Given the description of an element on the screen output the (x, y) to click on. 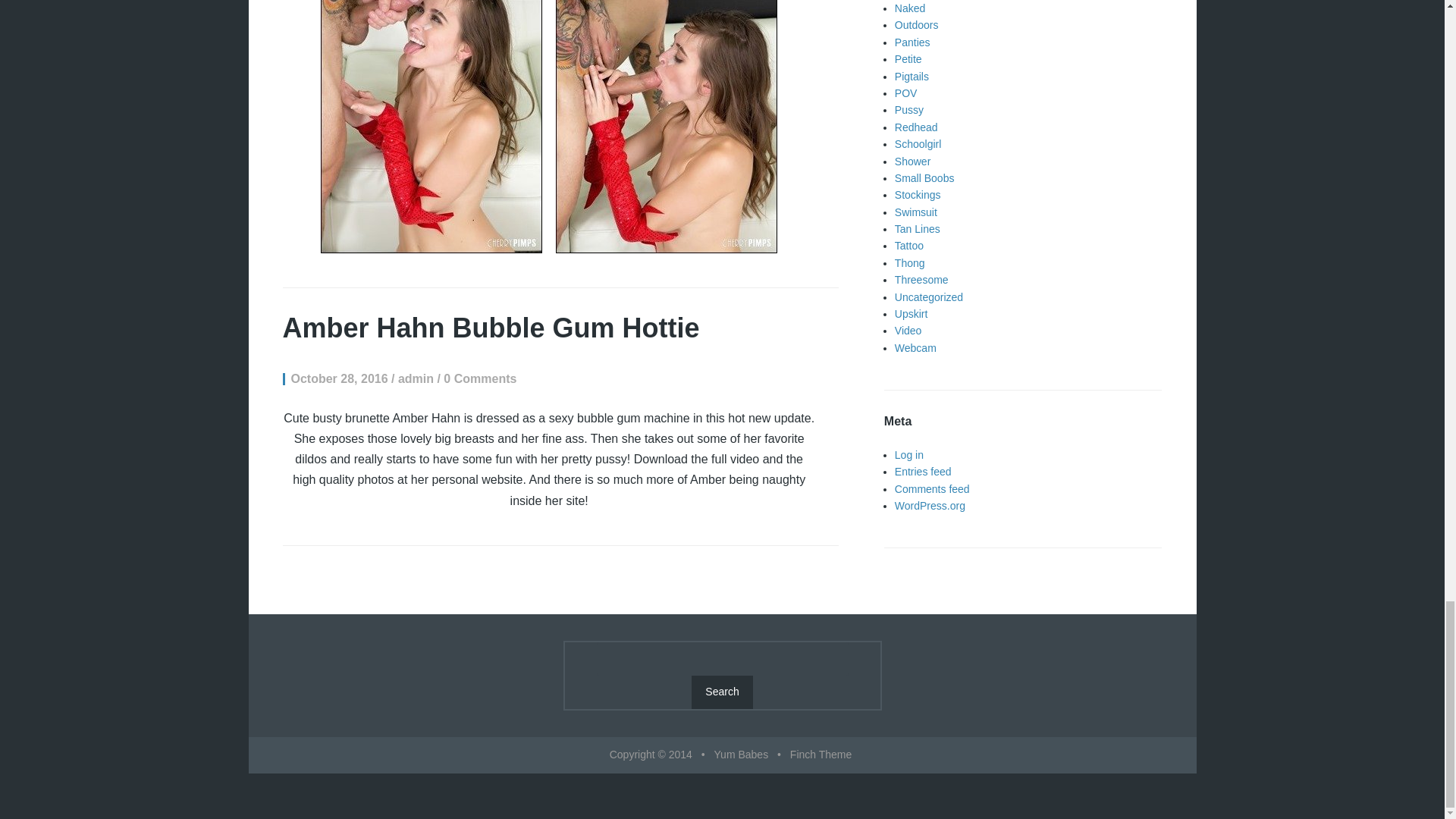
Search (721, 692)
Finch WordPress Theme (820, 754)
Search (721, 692)
Yum Babes (741, 754)
Amber Hahn Bubble Gum Hottie (490, 327)
